Given the description of an element on the screen output the (x, y) to click on. 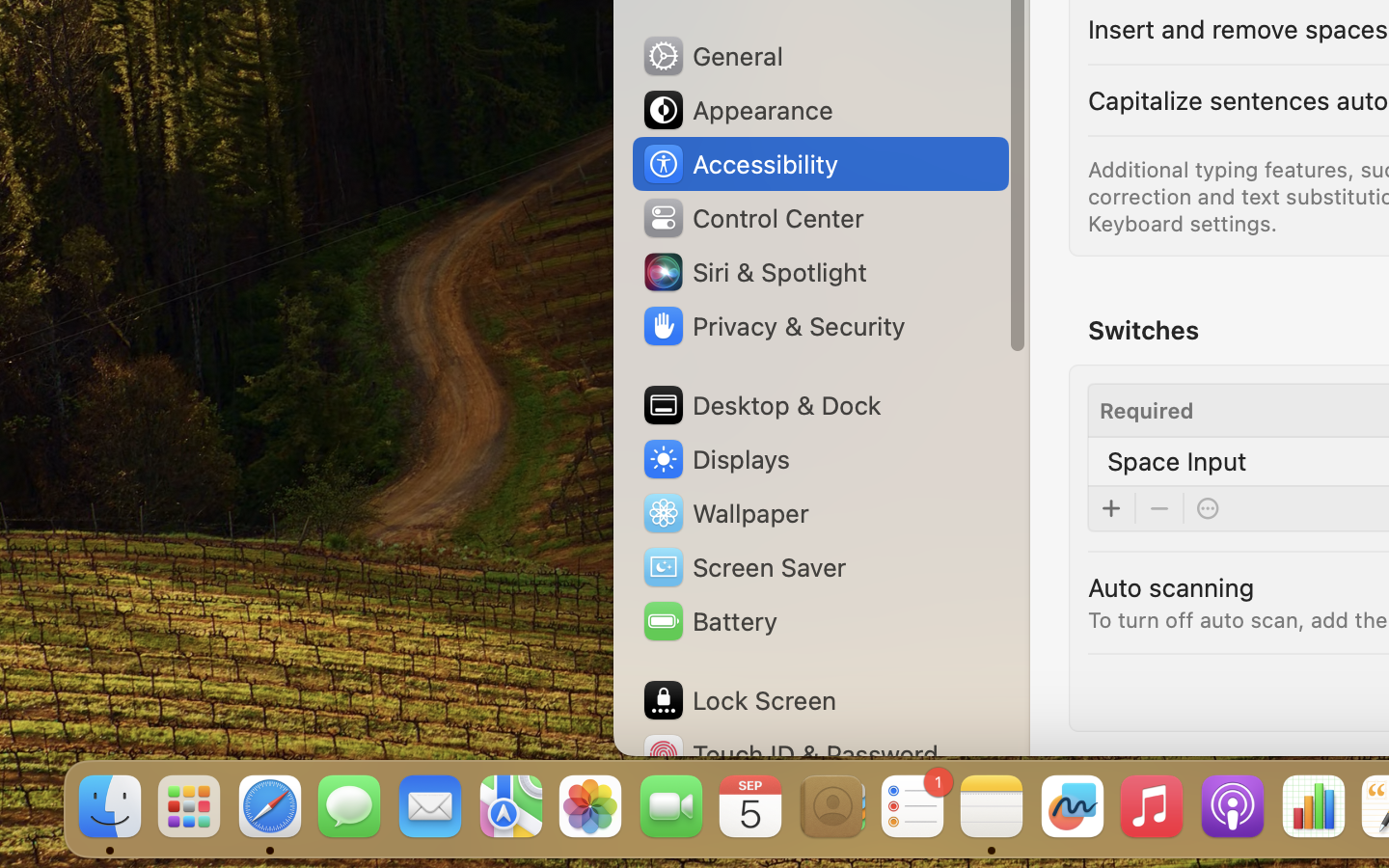
Auto scanning Element type: AXStaticText (1170, 585)
Accessibility Element type: AXStaticText (739, 163)
Required Element type: AXStaticText (1146, 410)
Siri & Spotlight Element type: AXStaticText (753, 271)
Space Input Element type: AXStaticText (1176, 460)
